Given the description of an element on the screen output the (x, y) to click on. 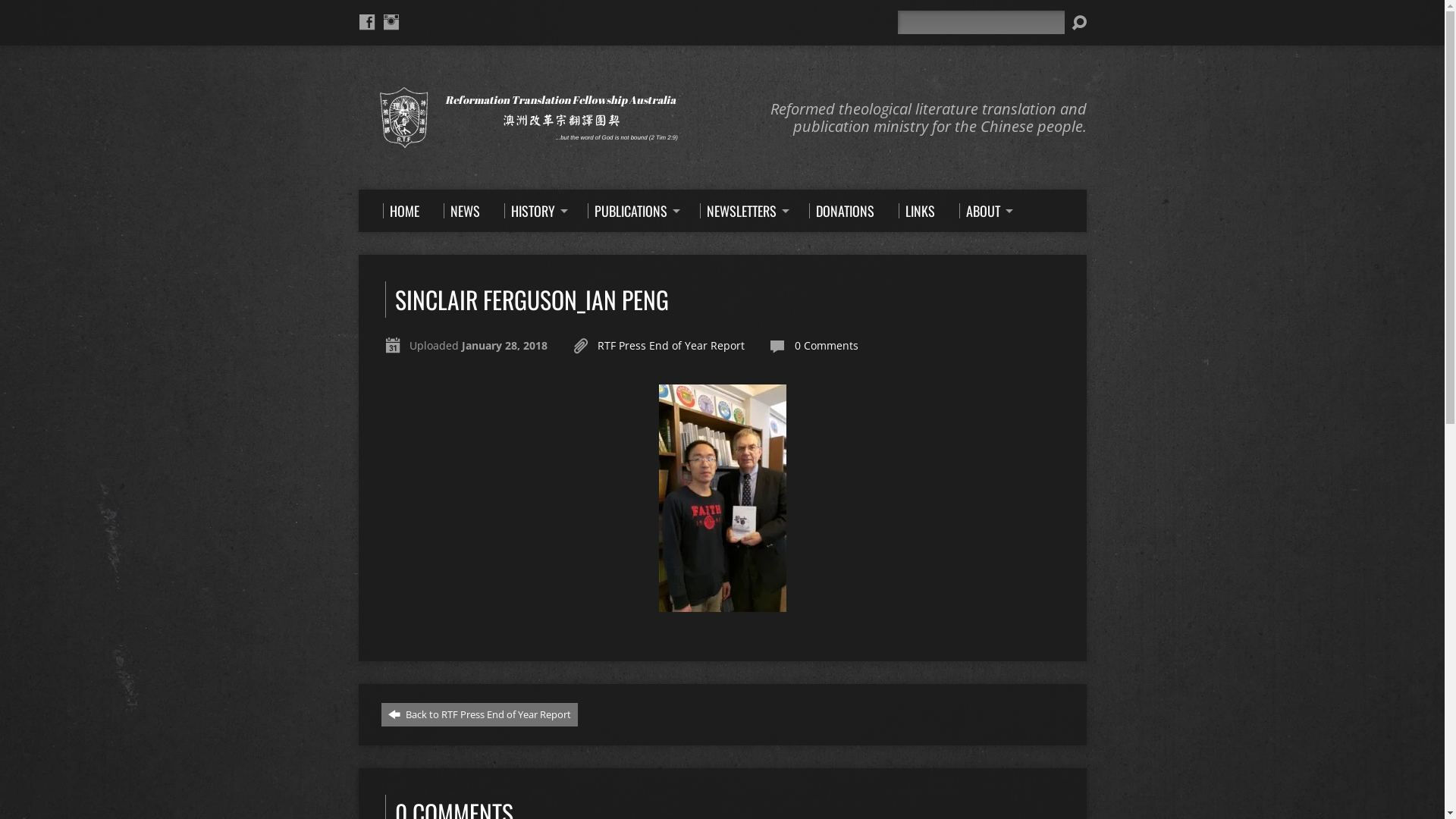
0 Comments Element type: text (826, 345)
LINKS Element type: text (915, 210)
Search Element type: hover (1077, 22)
DONATIONS Element type: text (840, 210)
ABOUT Element type: text (982, 210)
Instagram Element type: hover (390, 21)
Back to RTF Press End of Year Report Element type: text (478, 714)
NEWS Element type: text (460, 210)
NEWSLETTERS Element type: text (741, 210)
RTF Press End of Year Report Element type: text (670, 345)
HOME Element type: text (400, 210)
Facebook Element type: hover (366, 21)
HISTORY Element type: text (532, 210)
PUBLICATIONS Element type: text (630, 210)
